Given the description of an element on the screen output the (x, y) to click on. 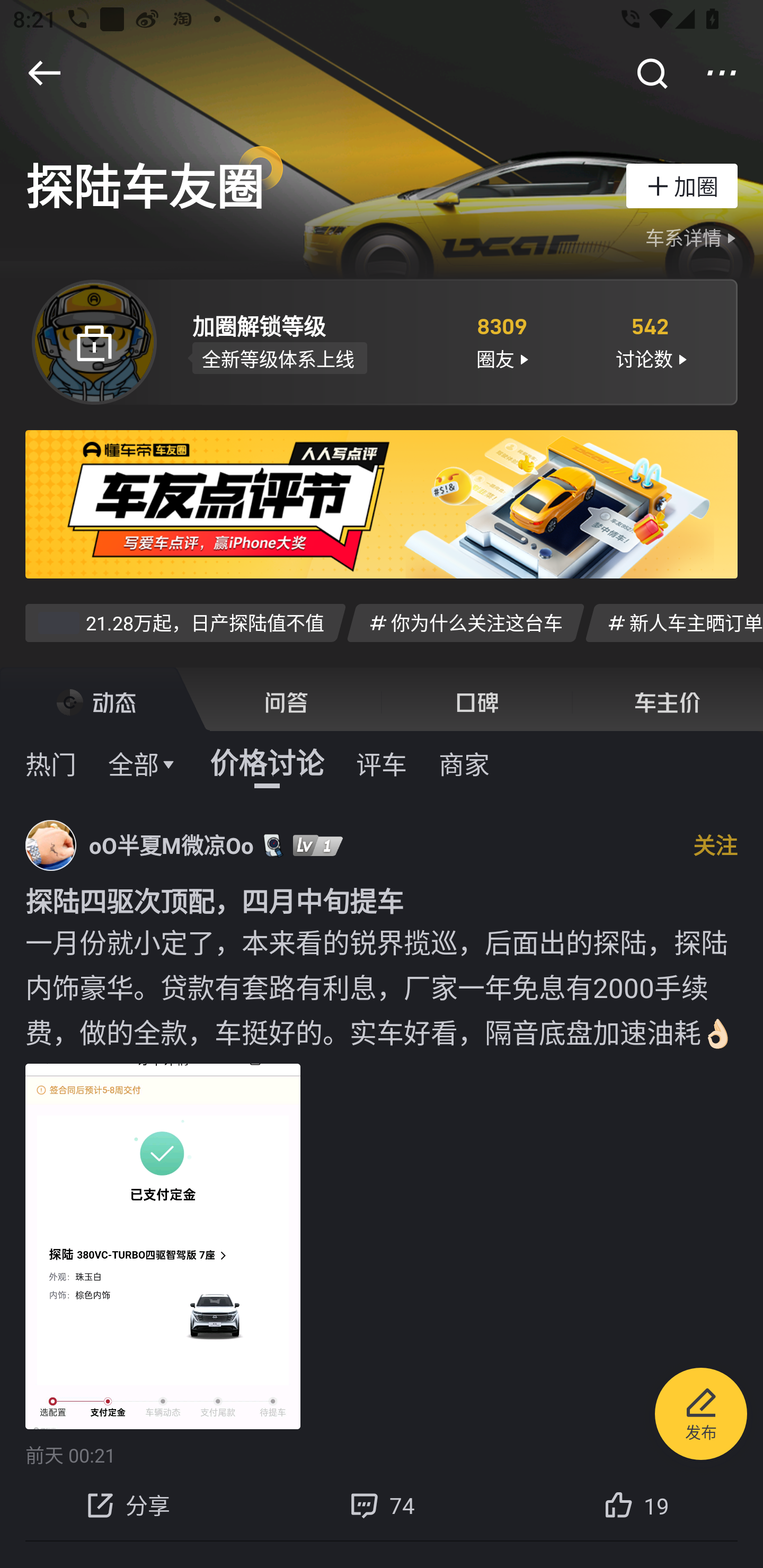
 (44, 72)
 (651, 72)
 (721, 72)
车系详情 (692, 238)
加圈解锁等级 全新等级体系上线 (307, 341)
8309 圈友 (501, 341)
542 讨论数 (650, 341)
打卡 21.28万起，日产探陆值不值 (185, 622)
 你为什么关注这台车 (465, 622)
 新人车主晒订单 (674, 622)
热门 (50, 762)
全部  (142, 762)
价格讨论 (266, 762)
评车 (381, 762)
商家 (463, 762)
关注 (714, 844)
oO半夏M微凉Oo (171, 844)
 发布 (701, 1416)
 分享 (127, 1504)
 74 (381, 1504)
19 (635, 1504)
